Given the description of an element on the screen output the (x, y) to click on. 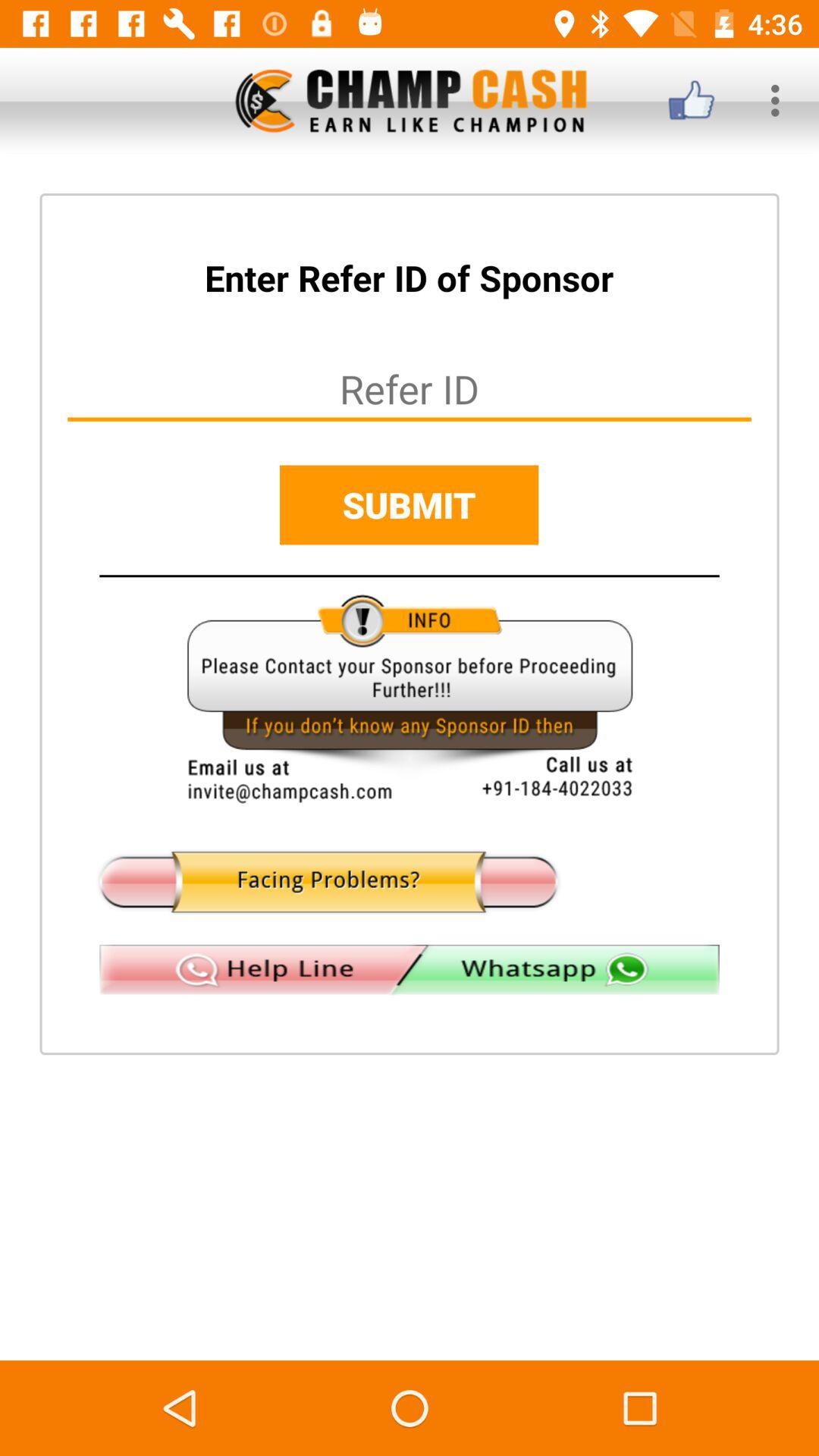
insert refer id (409, 388)
